Given the description of an element on the screen output the (x, y) to click on. 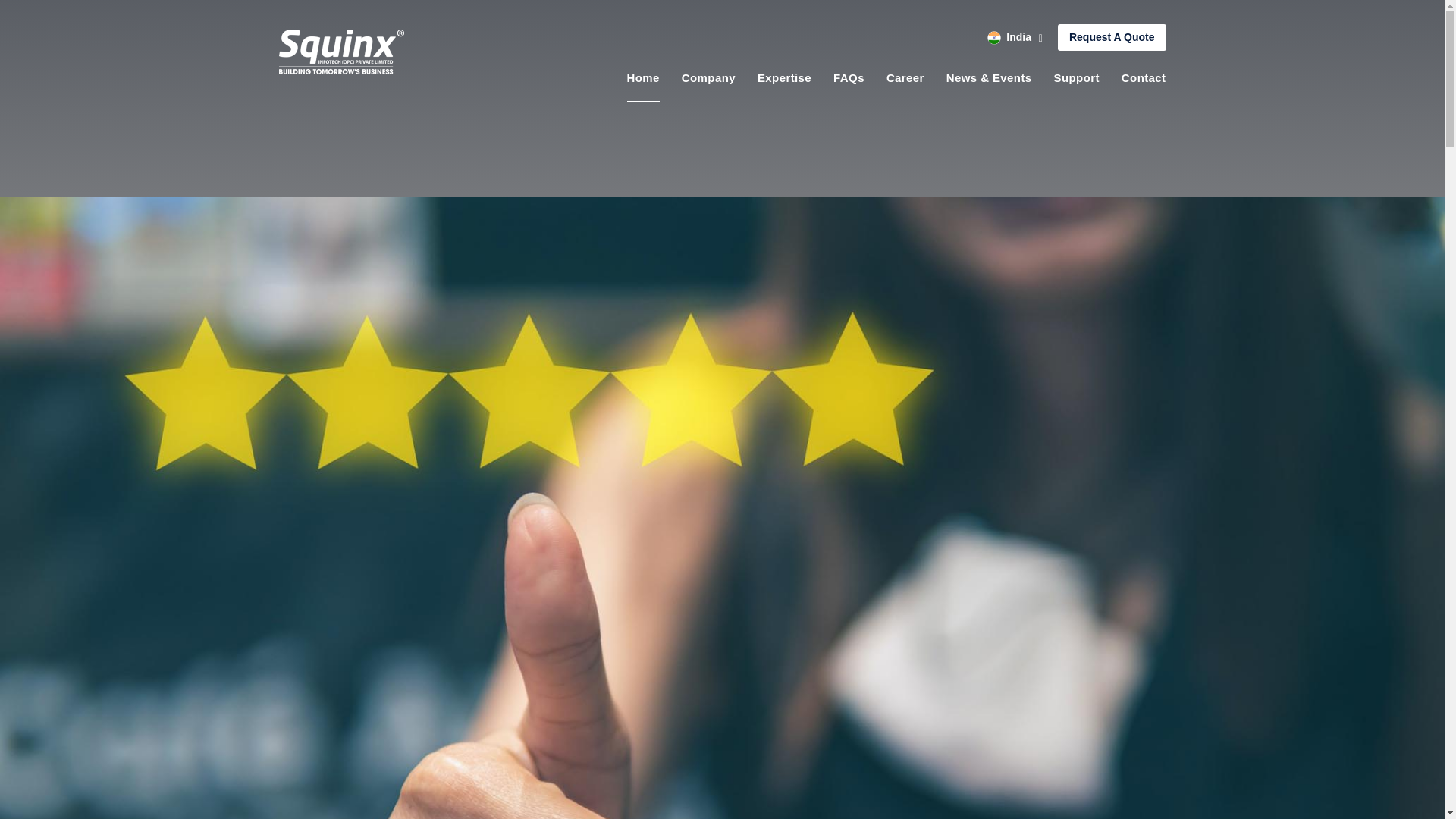
Contact (1143, 77)
Expertise (783, 77)
  India (1014, 37)
Support (1076, 77)
Request A Quote (1112, 37)
Company (708, 77)
